Given the description of an element on the screen output the (x, y) to click on. 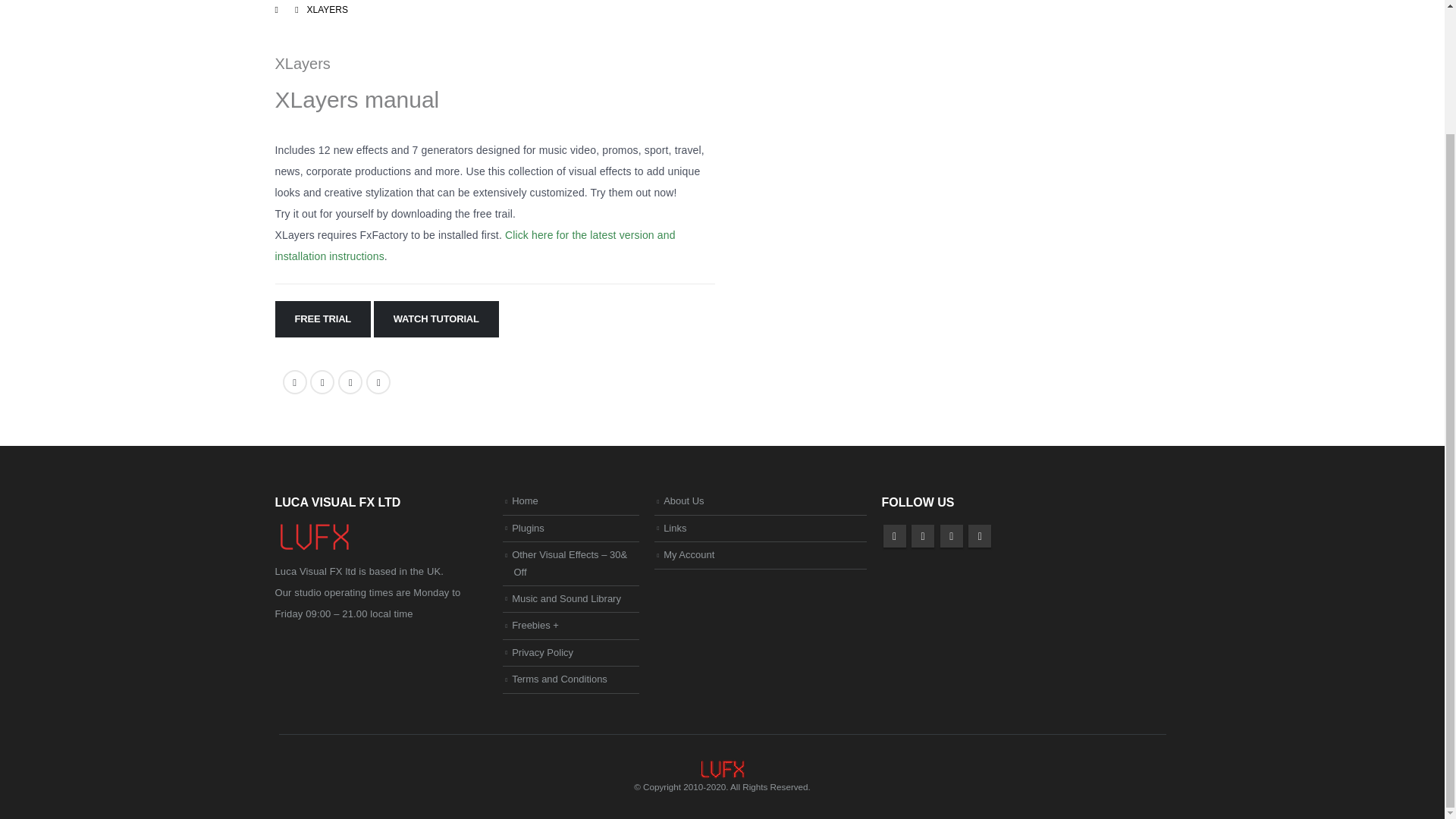
Email (378, 381)
XLayers for Final Cut Pro X Tutorial (949, 208)
Facebook (893, 535)
Youtube (951, 535)
Facebook (293, 381)
Linkedin (979, 535)
Twitter (322, 381)
LinkedIn (349, 381)
Twitter (922, 535)
